Given the description of an element on the screen output the (x, y) to click on. 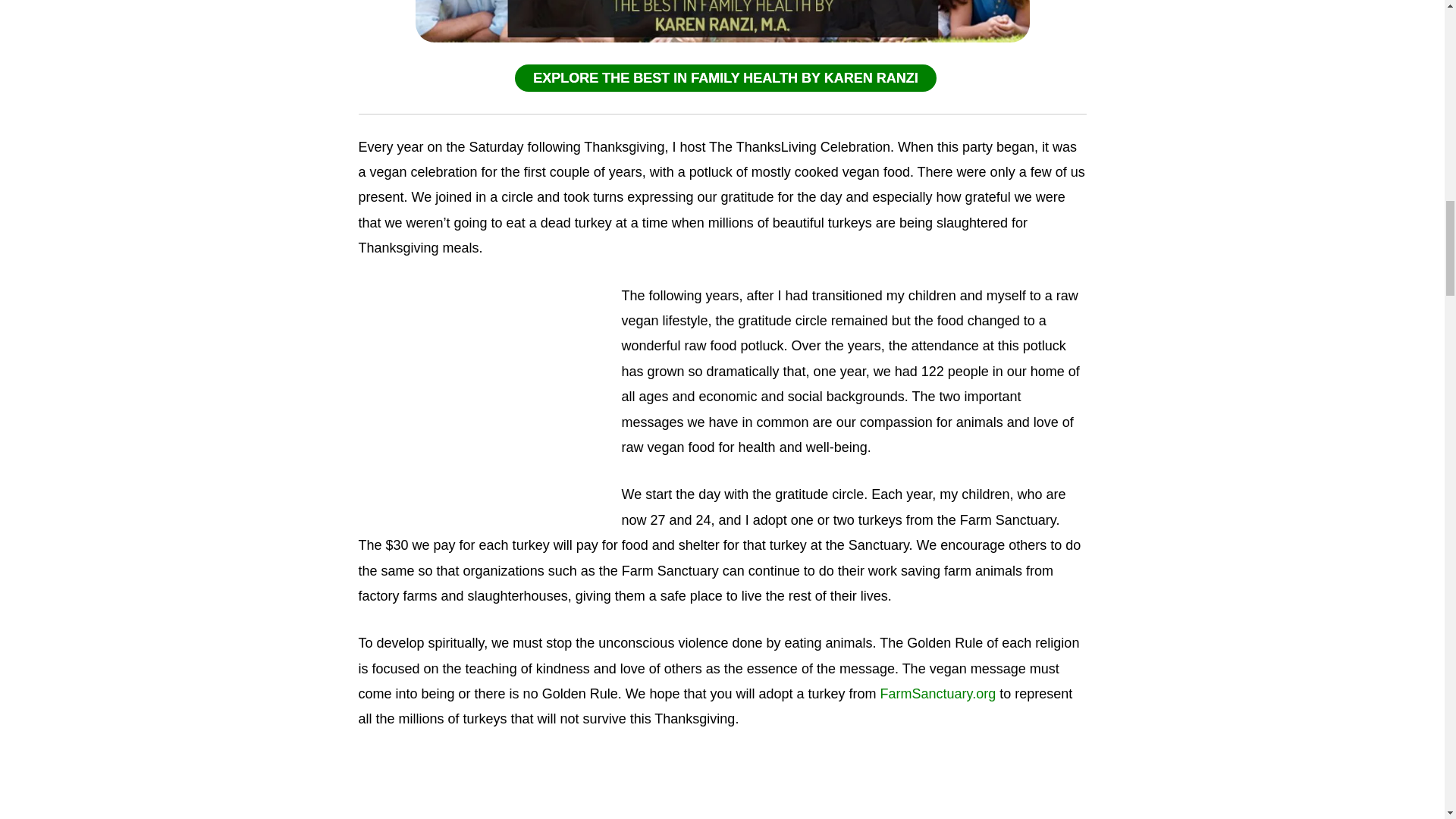
Visit FarmSanctuary.org (937, 693)
